Given the description of an element on the screen output the (x, y) to click on. 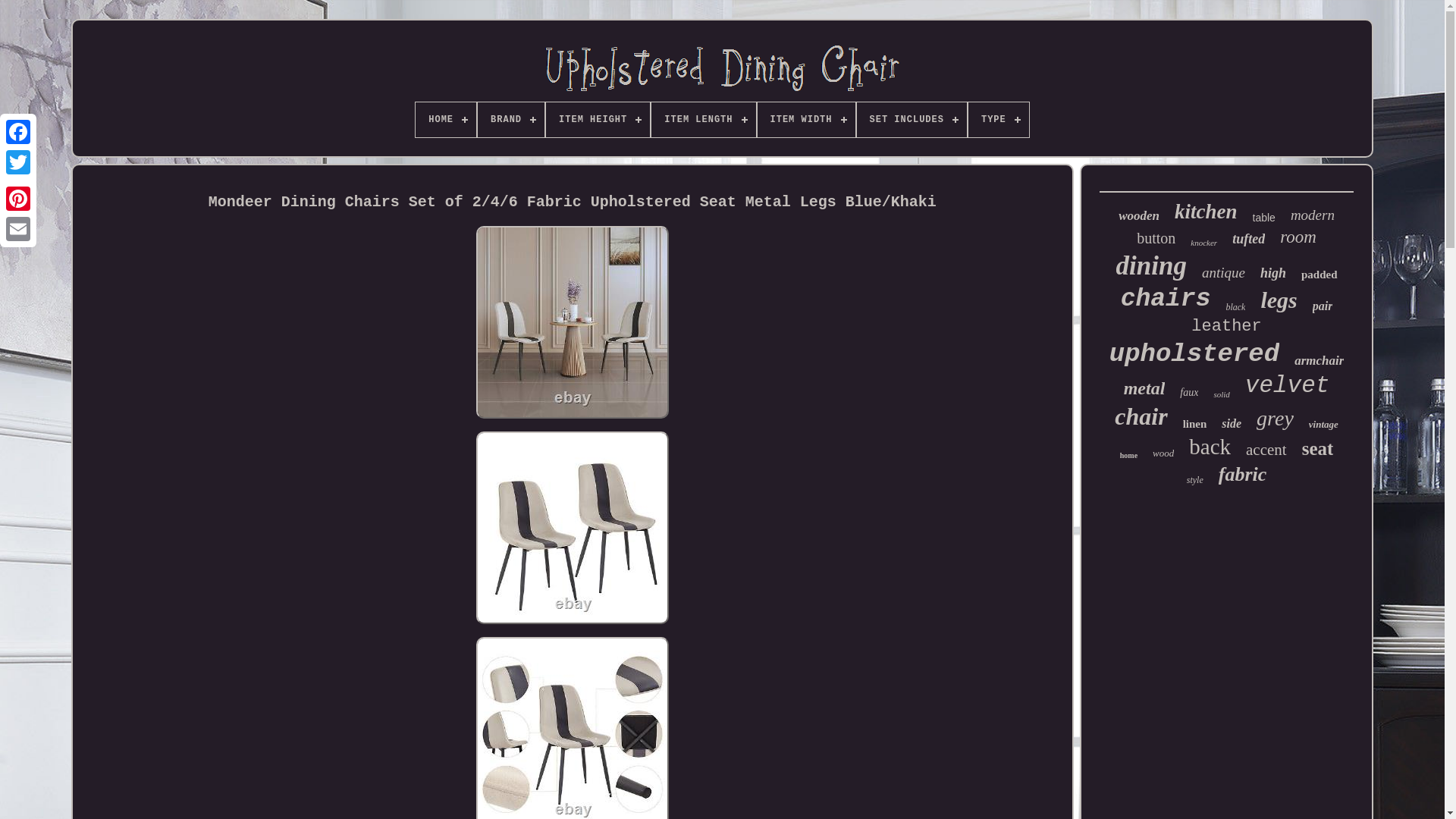
HOME (445, 119)
ITEM HEIGHT (597, 119)
BRAND (510, 119)
